Given the description of an element on the screen output the (x, y) to click on. 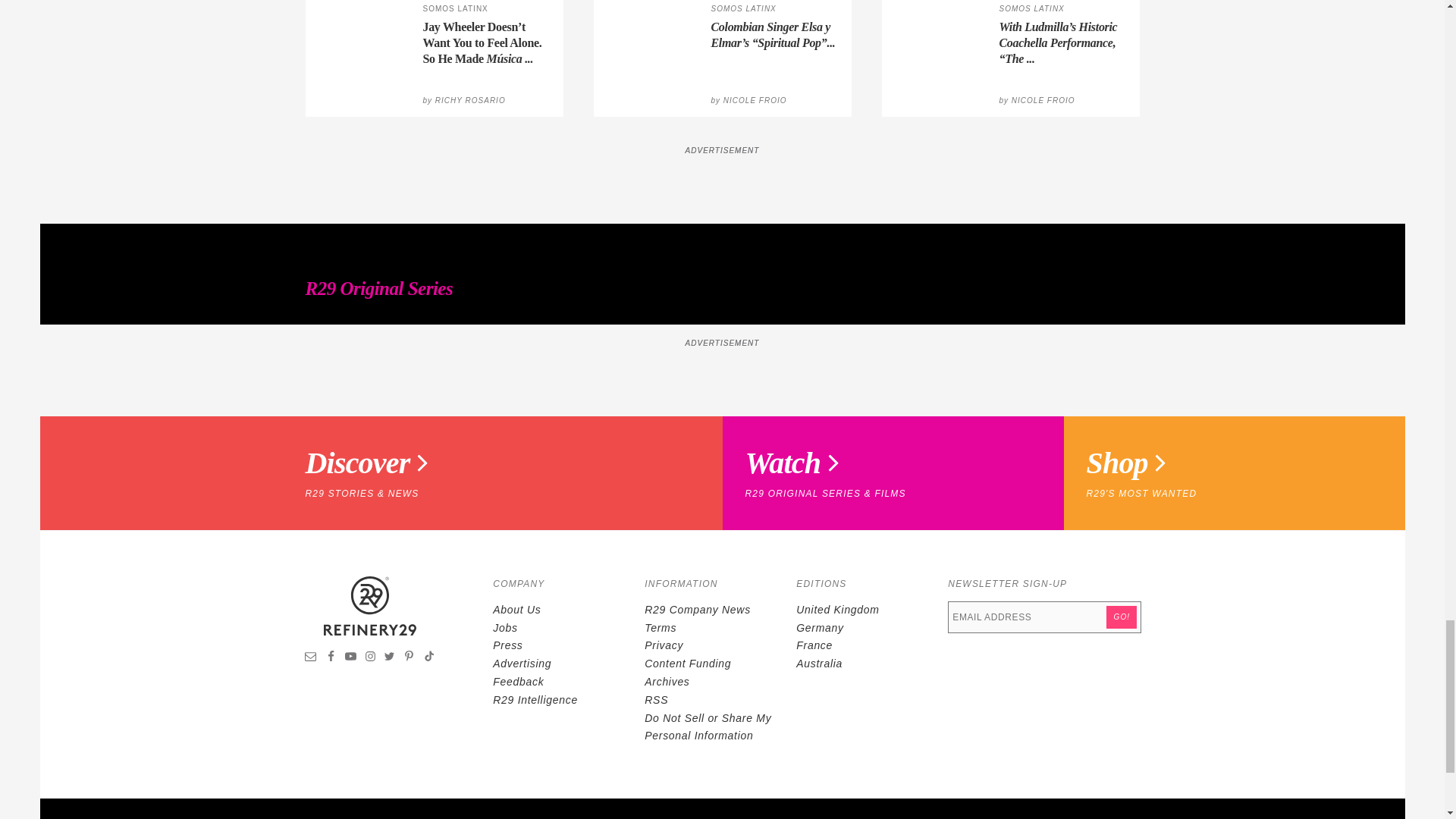
Visit Refinery29 on YouTube (350, 657)
Sign up for newsletters (310, 657)
Visit Refinery29 on TikTok (428, 657)
